Given the description of an element on the screen output the (x, y) to click on. 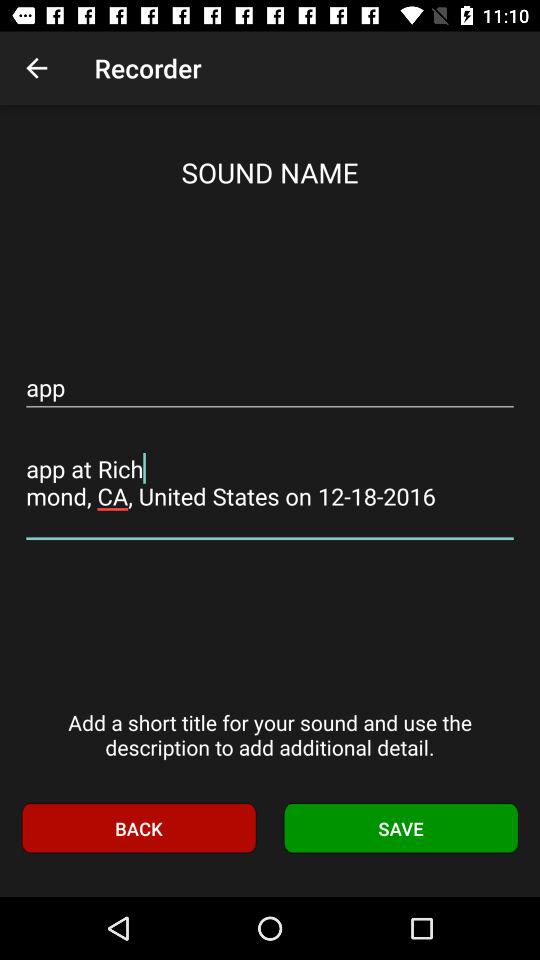
select the item above sound name (36, 68)
